Given the description of an element on the screen output the (x, y) to click on. 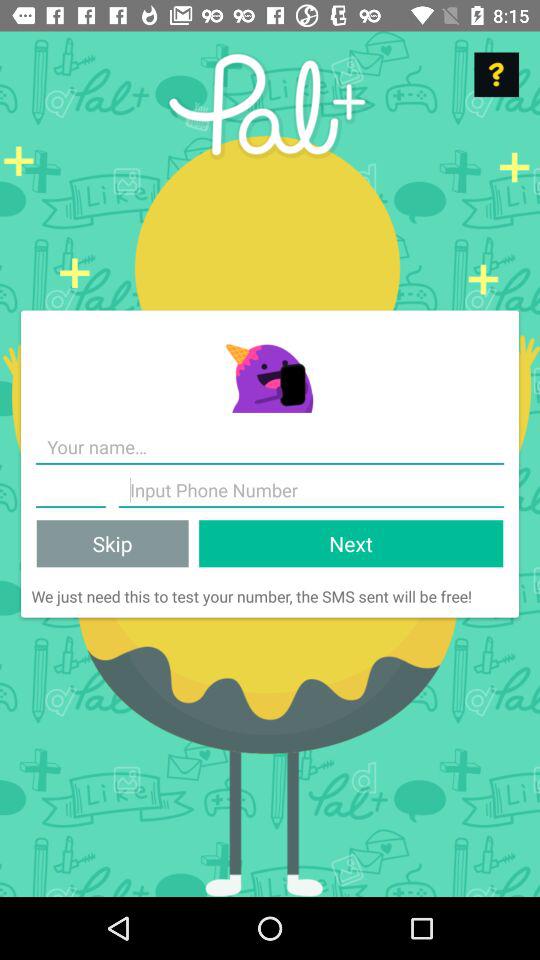
help (496, 74)
